Given the description of an element on the screen output the (x, y) to click on. 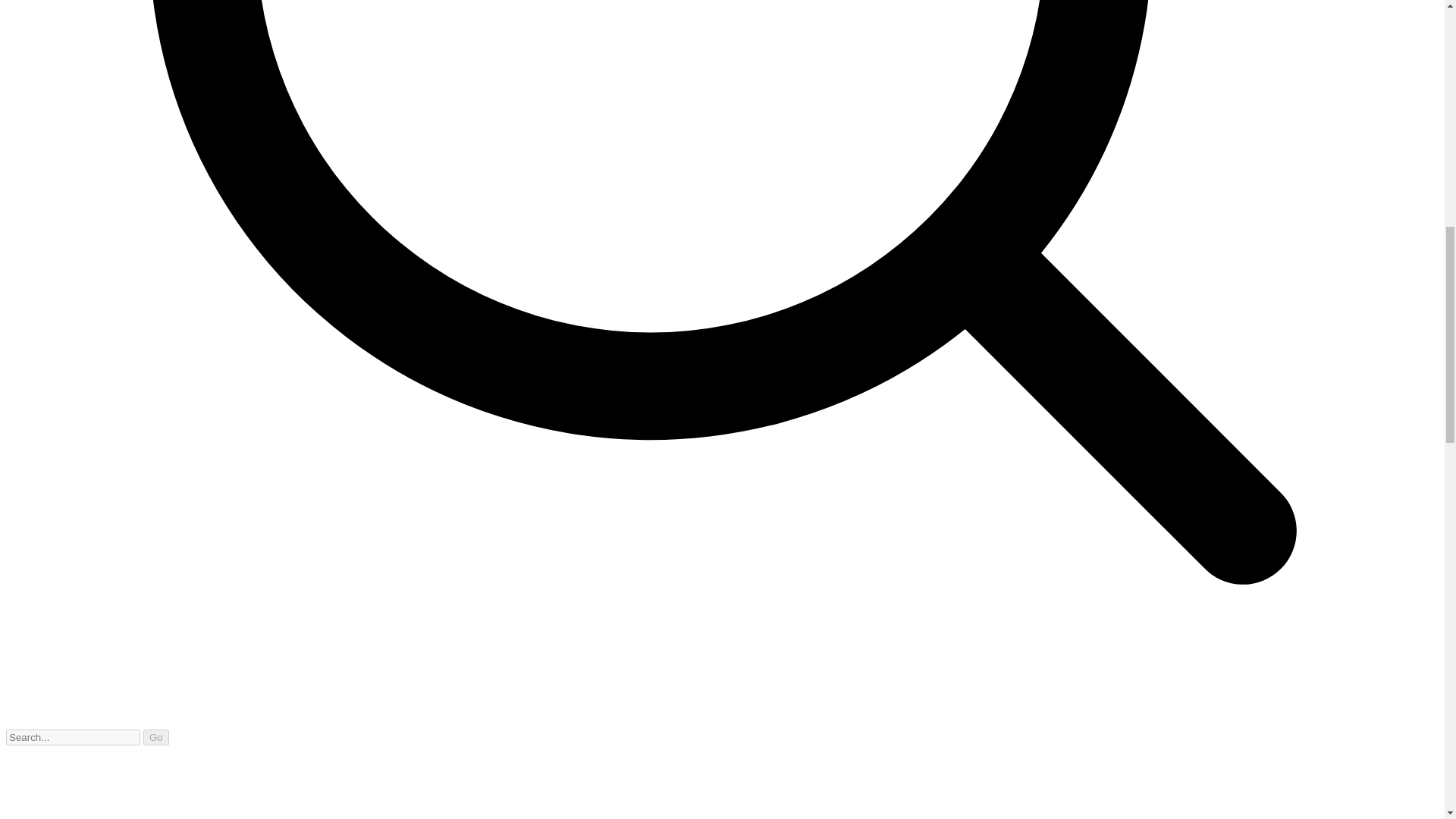
Go (155, 737)
